Given the description of an element on the screen output the (x, y) to click on. 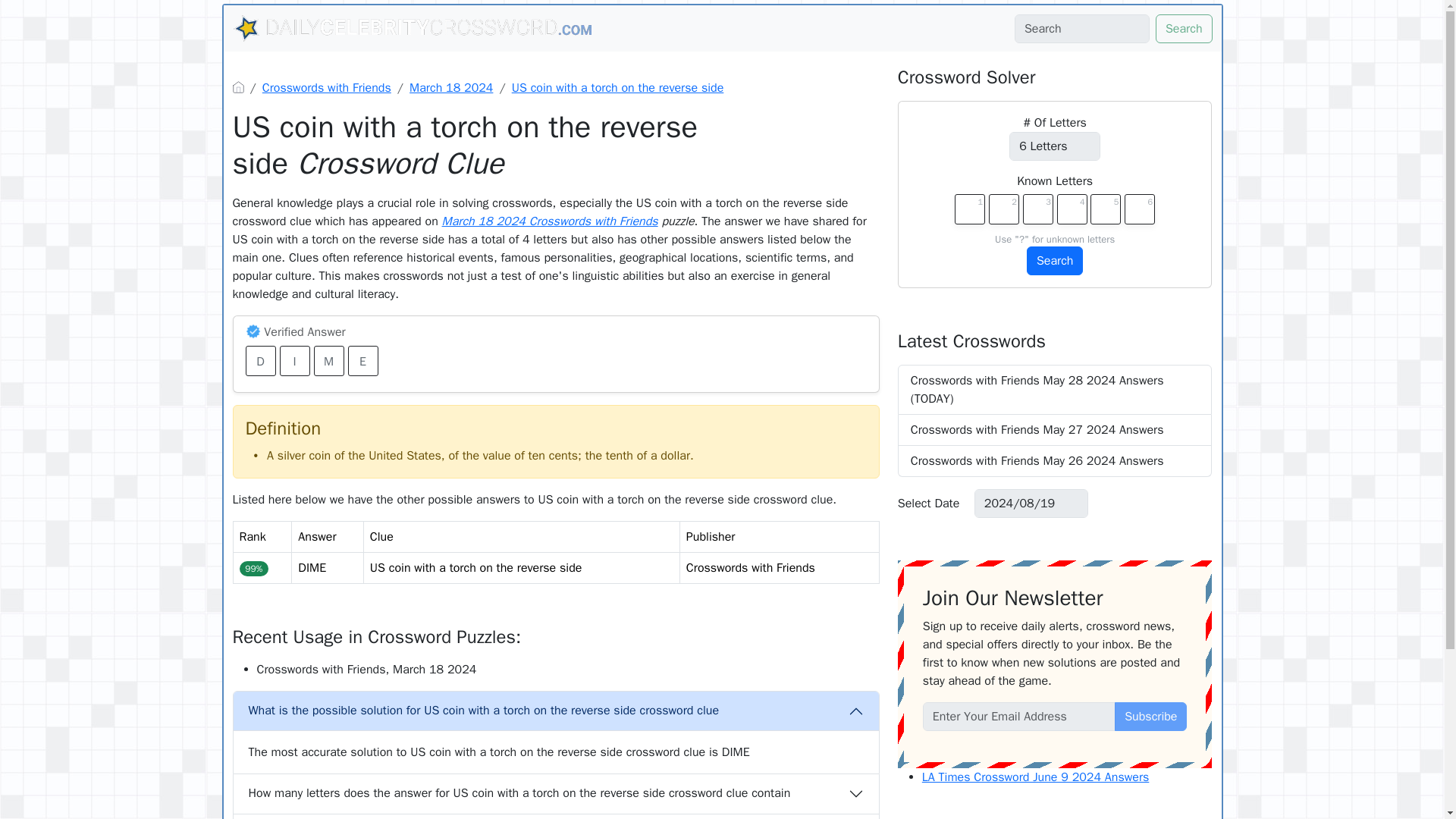
Select Date (930, 502)
March 18 2024 Crosswords with Friends (550, 221)
Search (1054, 260)
Subscribe (1150, 716)
March 18 2024 (451, 87)
Crosswords with Friends May 26 2024 Answers (1055, 460)
Crosswords with Friends (326, 87)
Crosswords with Friends May 27 2024 Answers (1055, 429)
